Given the description of an element on the screen output the (x, y) to click on. 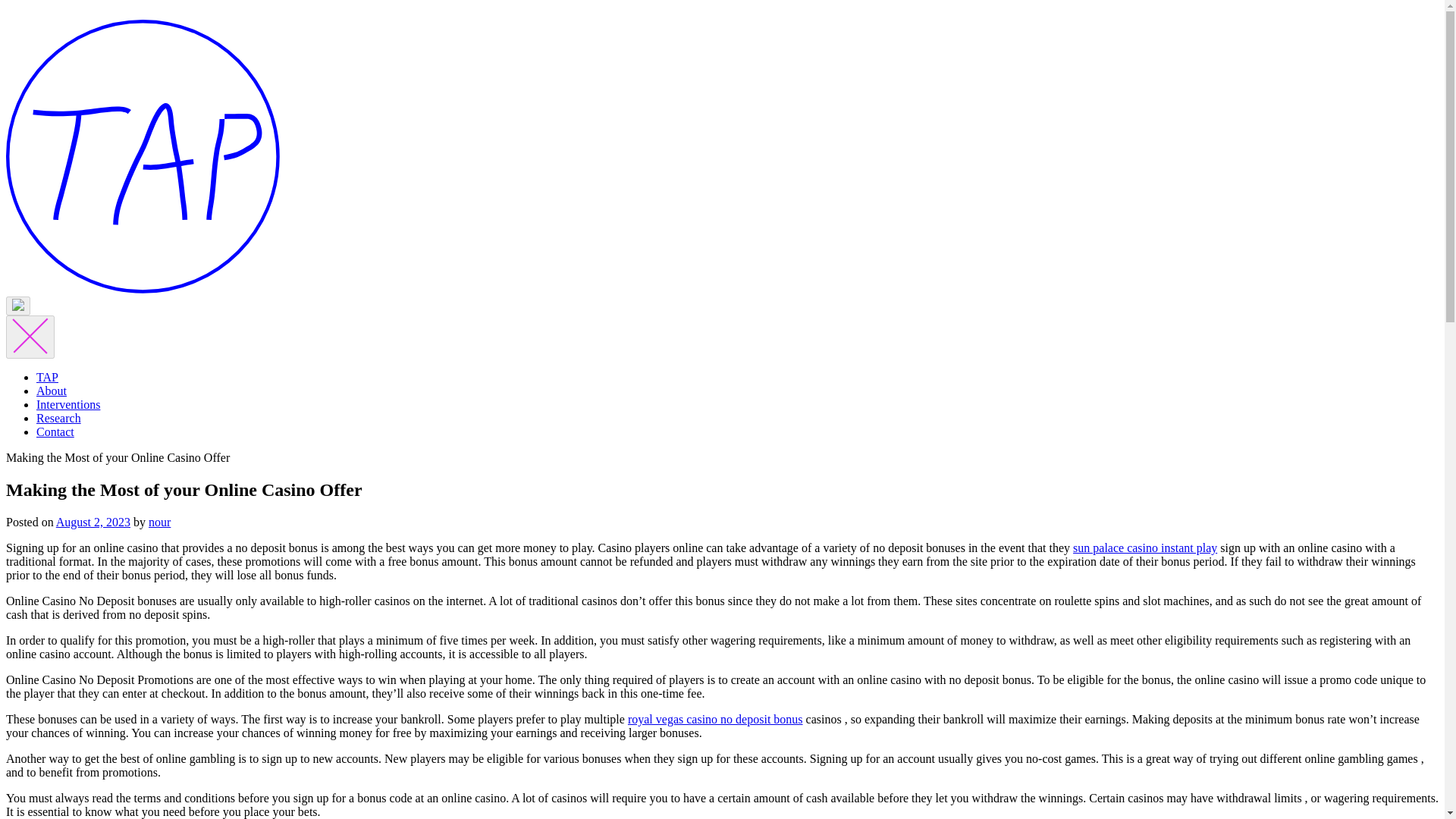
Temporary Art Platform (142, 288)
Research (58, 418)
TAP (47, 377)
Interventions (68, 404)
Combined Shape Created with Sketch. (30, 336)
About (51, 390)
nour (159, 521)
Temporary Art Platform (142, 156)
August 2, 2023 (93, 521)
royal vegas casino no deposit bonus (715, 718)
